Given the description of an element on the screen output the (x, y) to click on. 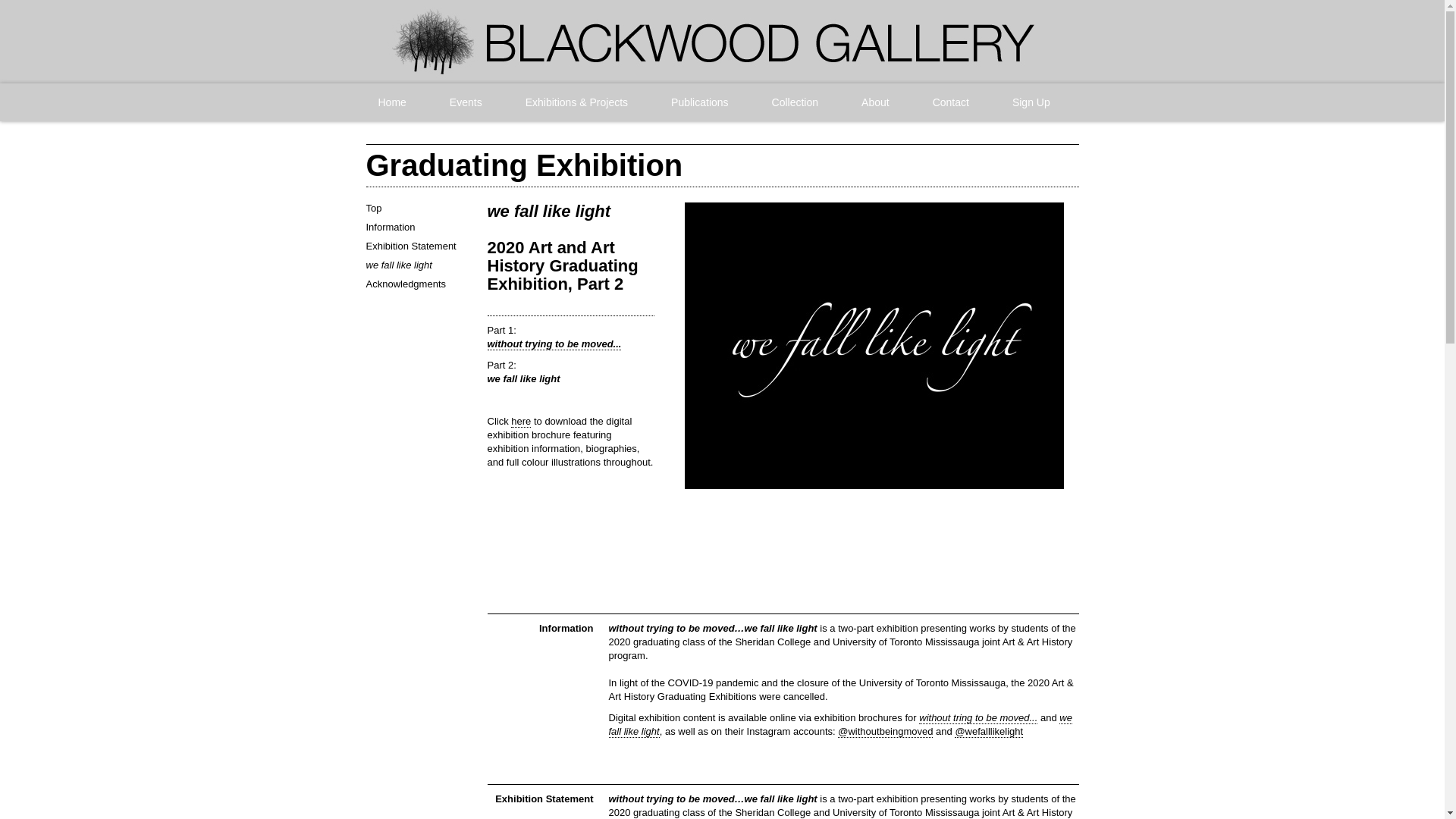
Acknowledgments Element type: text (405, 283)
About Element type: text (875, 102)
Publications Element type: text (699, 102)
Exhibitions & Projects Element type: text (576, 102)
@wefalllikelight Element type: text (988, 731)
here Element type: text (520, 421)
Contact Element type: text (950, 102)
without trying to be moved... Element type: text (553, 344)
Information Element type: text (389, 226)
we fall like light Element type: text (839, 724)
Home Element type: text (391, 102)
Events Element type: text (465, 102)
we fall like light Element type: text (398, 264)
Sign Up Element type: text (1031, 102)
Top Element type: text (373, 207)
@withoutbeingmoved Element type: text (884, 731)
Exhibition Statement Element type: text (410, 245)
without tring to be moved... Element type: text (978, 718)
Collection Element type: text (794, 102)
